Given the description of an element on the screen output the (x, y) to click on. 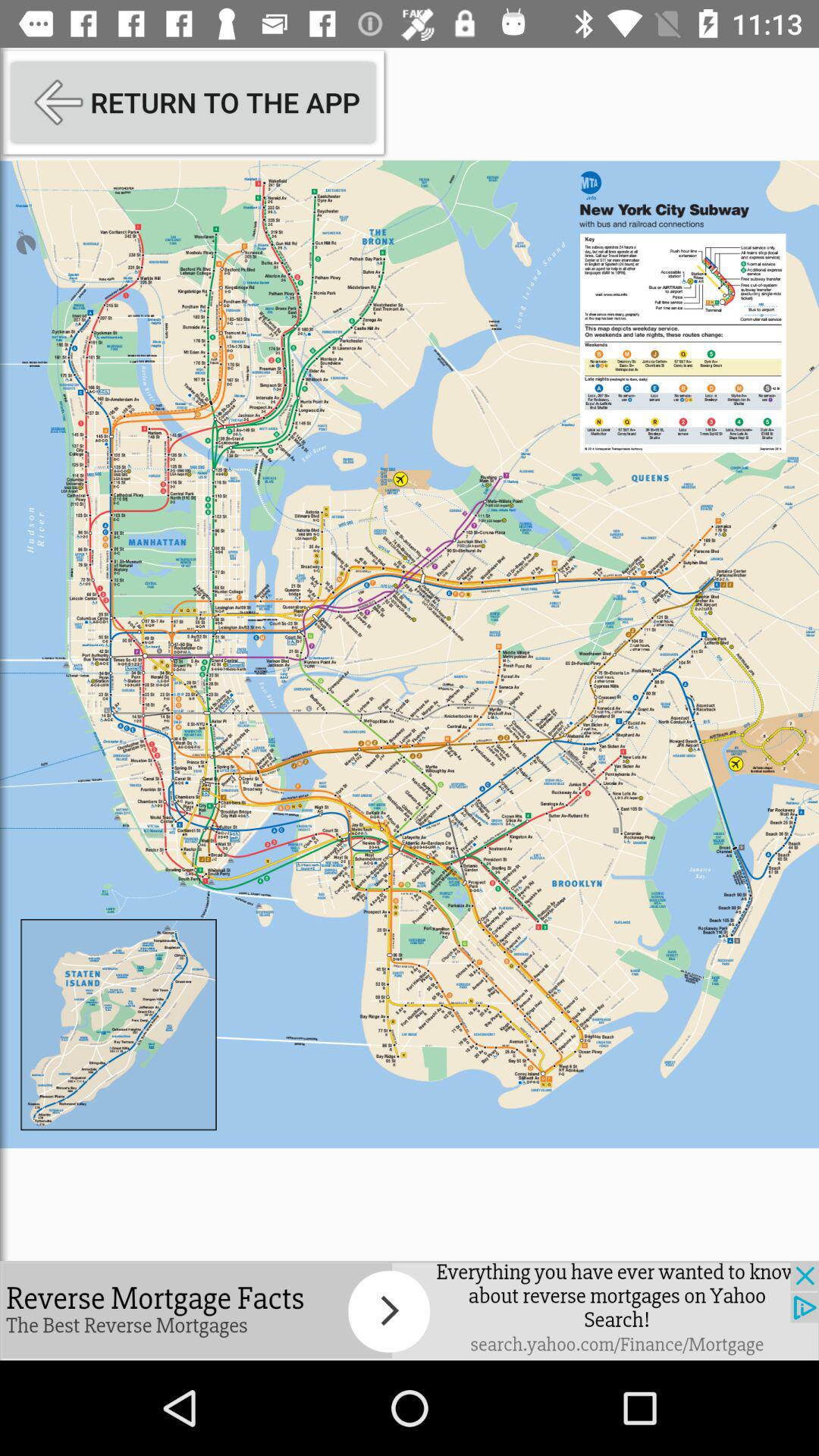
open advertisement (409, 1310)
